Given the description of an element on the screen output the (x, y) to click on. 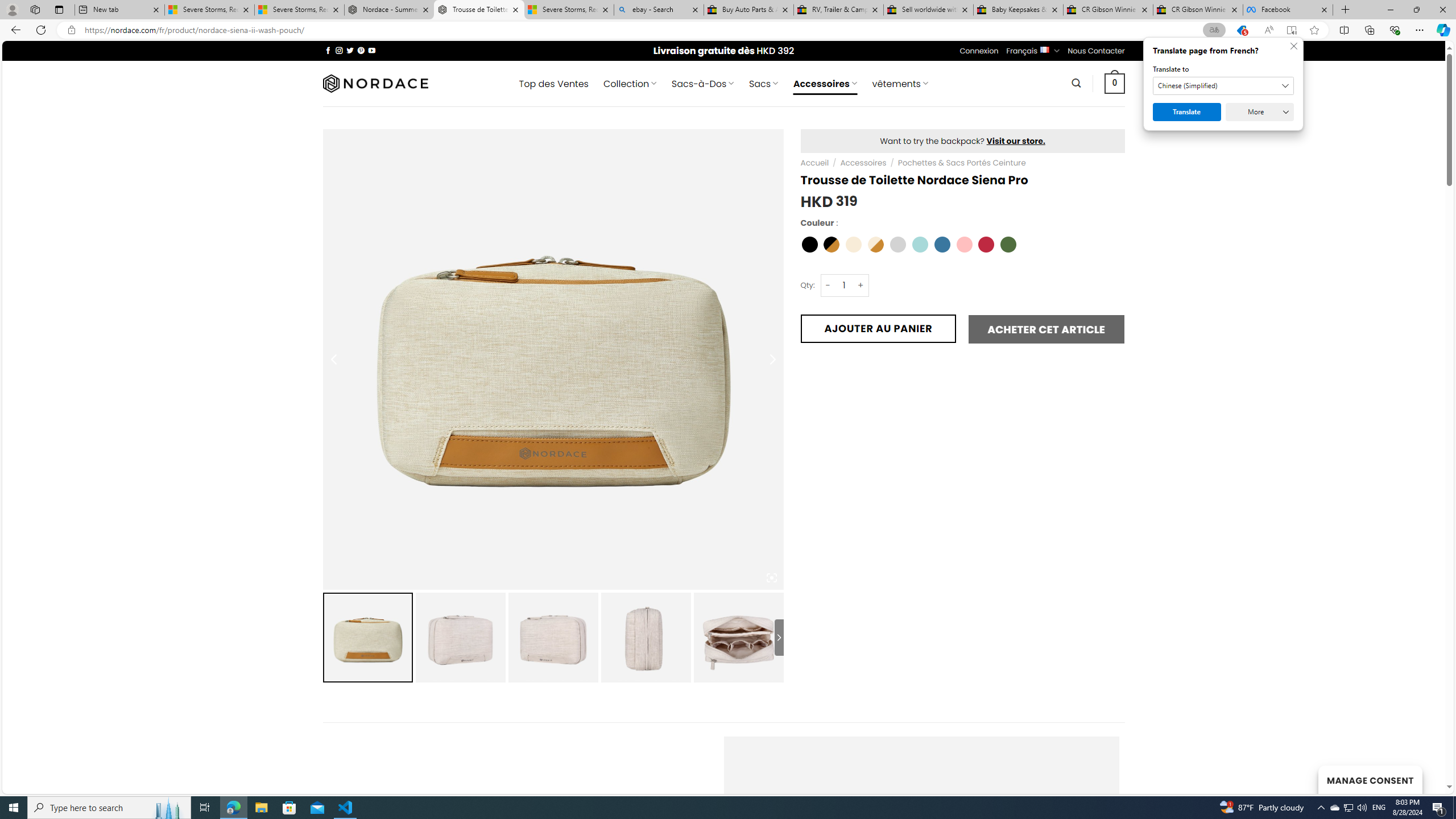
+ (861, 284)
Recherche (1076, 83)
